Given the description of an element on the screen output the (x, y) to click on. 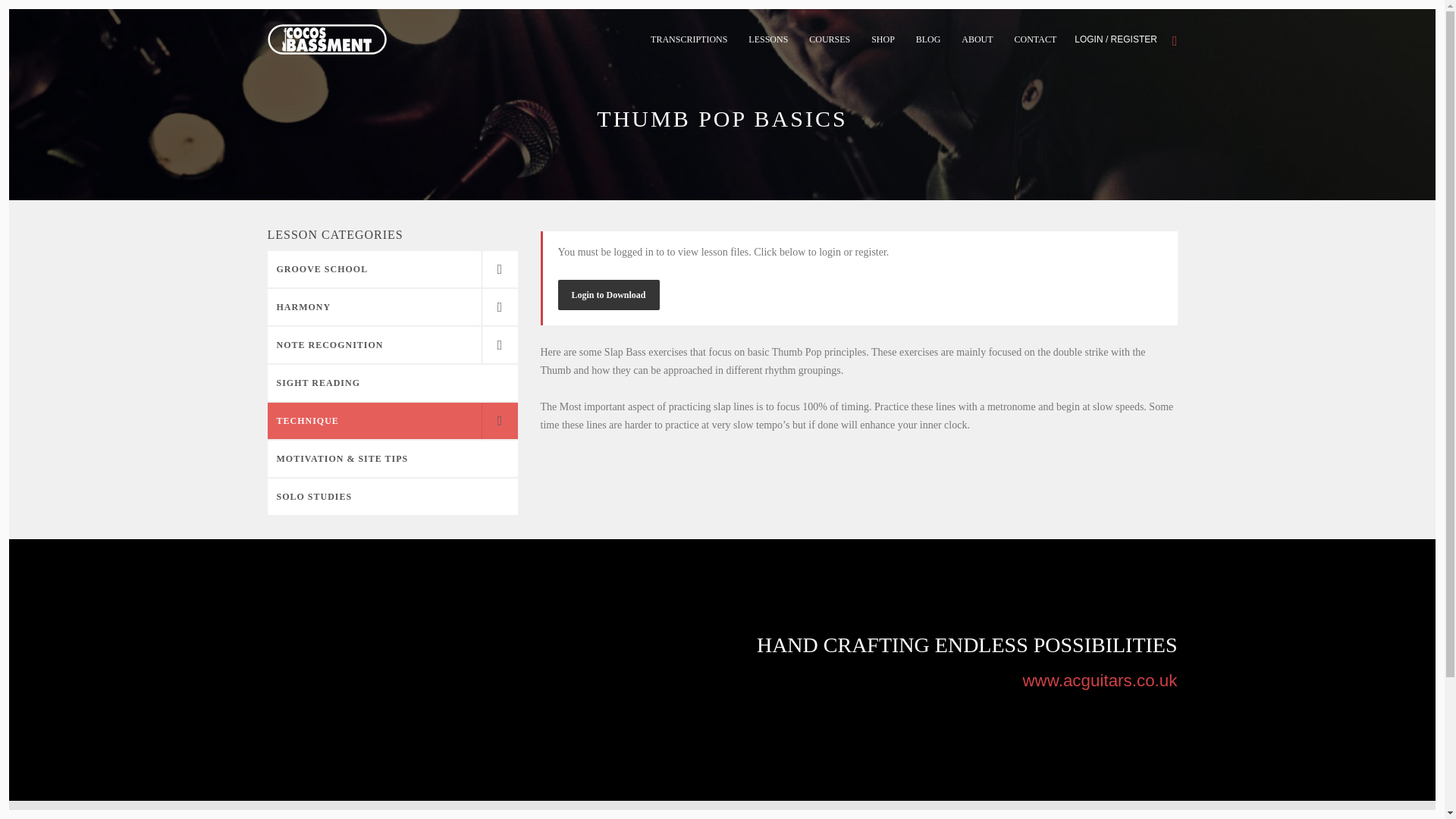
NOTE RECOGNITION (391, 344)
www.acguitars.co.uk (1099, 680)
SOLO STUDIES (391, 496)
Login or register (1115, 39)
HARMONY (391, 307)
Cocos Bassment (325, 39)
Login to Download (608, 295)
GROOVE SCHOOL (391, 268)
TECHNIQUE (391, 420)
SIGHT READING (391, 382)
